Given the description of an element on the screen output the (x, y) to click on. 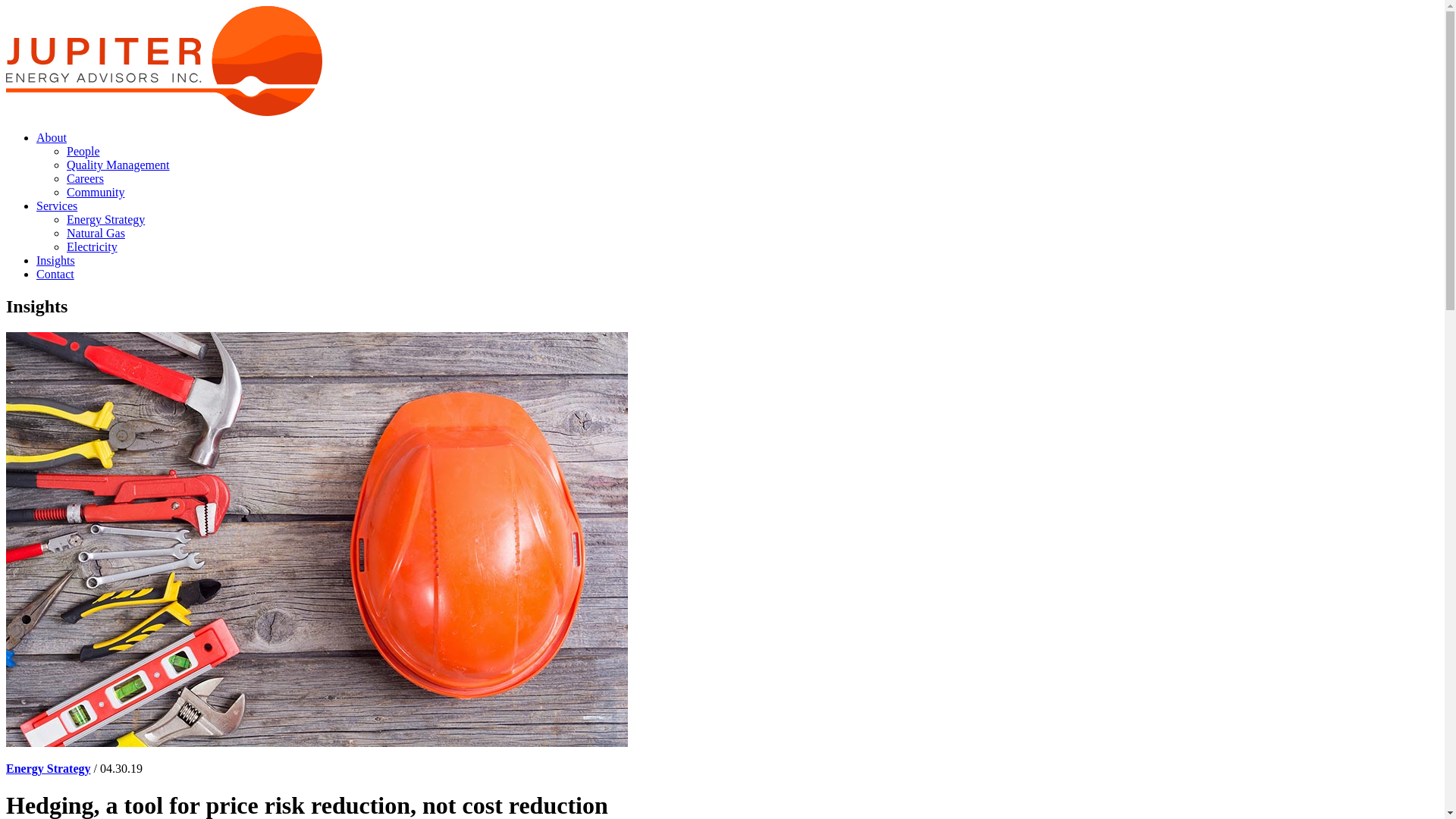
Services Element type: text (56, 205)
Community Element type: text (95, 191)
Energy Strategy Element type: text (48, 768)
Natural Gas Element type: text (95, 232)
About Element type: text (51, 137)
People Element type: text (83, 150)
Energy Strategy Element type: text (105, 219)
Quality Management Element type: text (117, 164)
Electricity Element type: text (91, 246)
Insights Element type: text (55, 260)
Careers Element type: text (84, 178)
Contact Element type: text (55, 273)
